Given the description of an element on the screen output the (x, y) to click on. 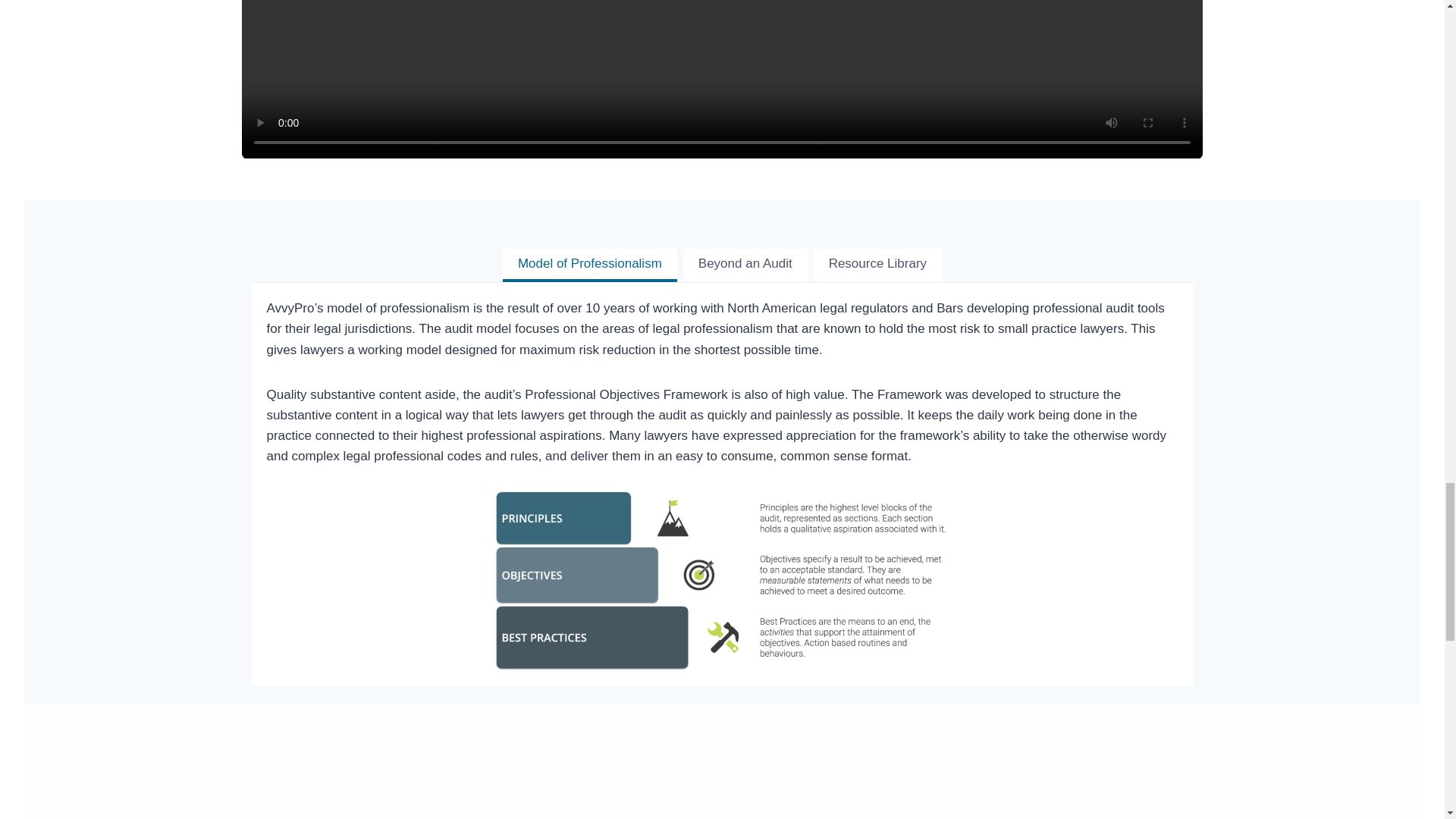
Beyond an Audit (745, 264)
Resource Library (877, 264)
Model of Professionalism (589, 264)
